Given the description of an element on the screen output the (x, y) to click on. 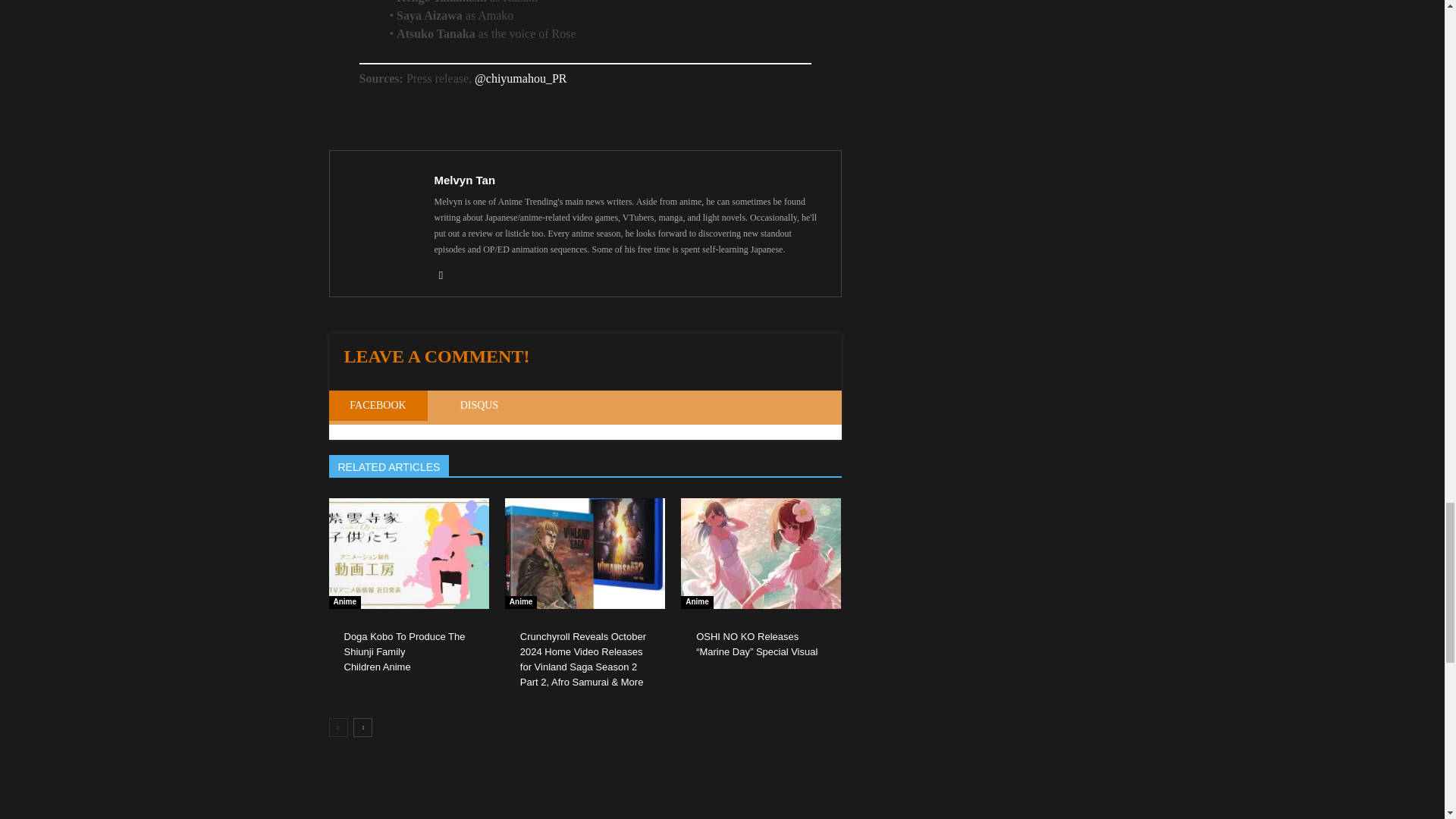
Mail (445, 275)
